Given the description of an element on the screen output the (x, y) to click on. 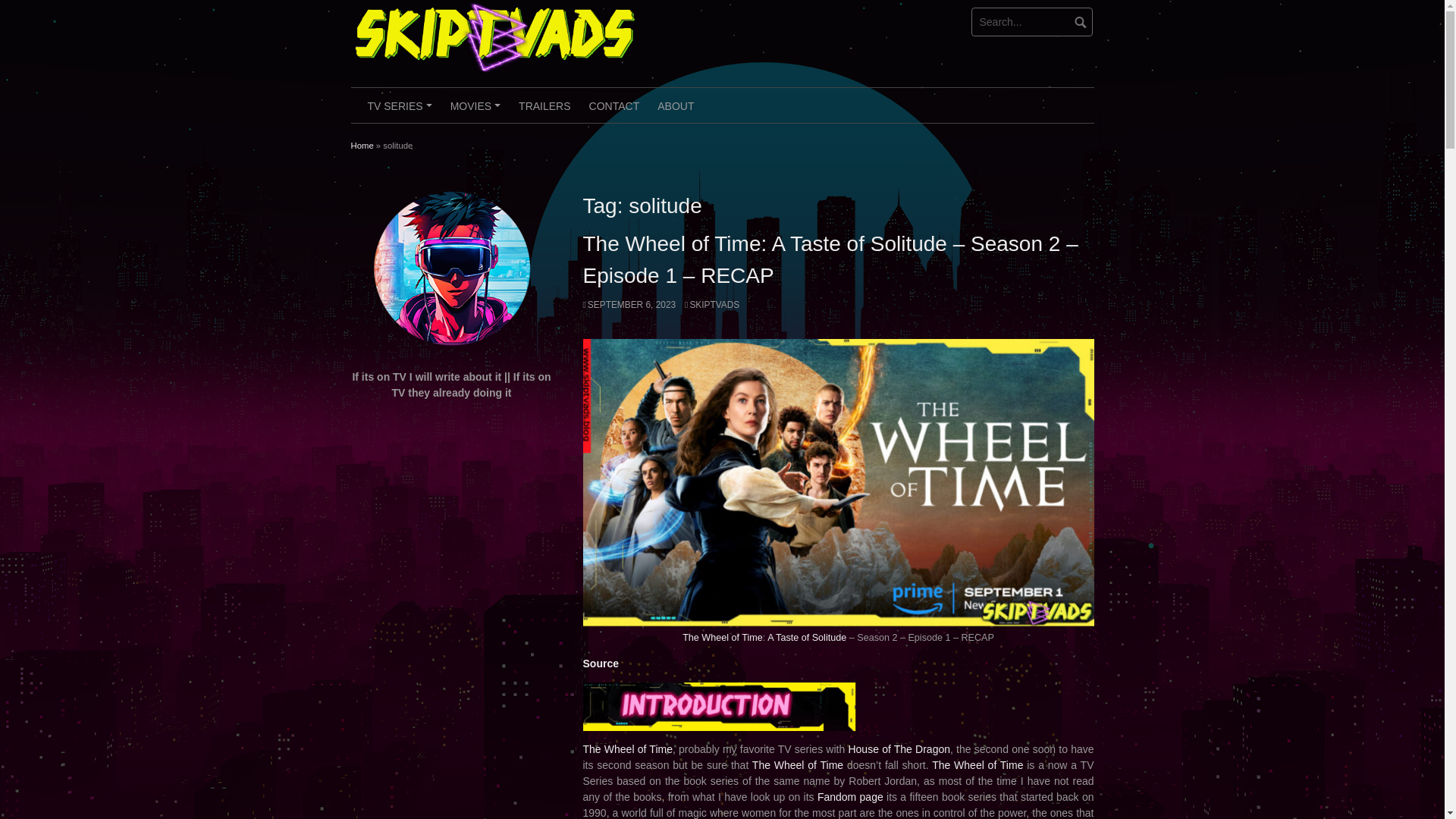
The Wheel of Time (797, 765)
CONTACT (614, 104)
The Wheel of Time (722, 637)
The Wheel of Time (626, 748)
A Taste of Solitude (806, 637)
ABOUT (675, 104)
House of The Dragon (898, 748)
The Wheel of Time (977, 765)
TRAILERS (544, 104)
